Given the description of an element on the screen output the (x, y) to click on. 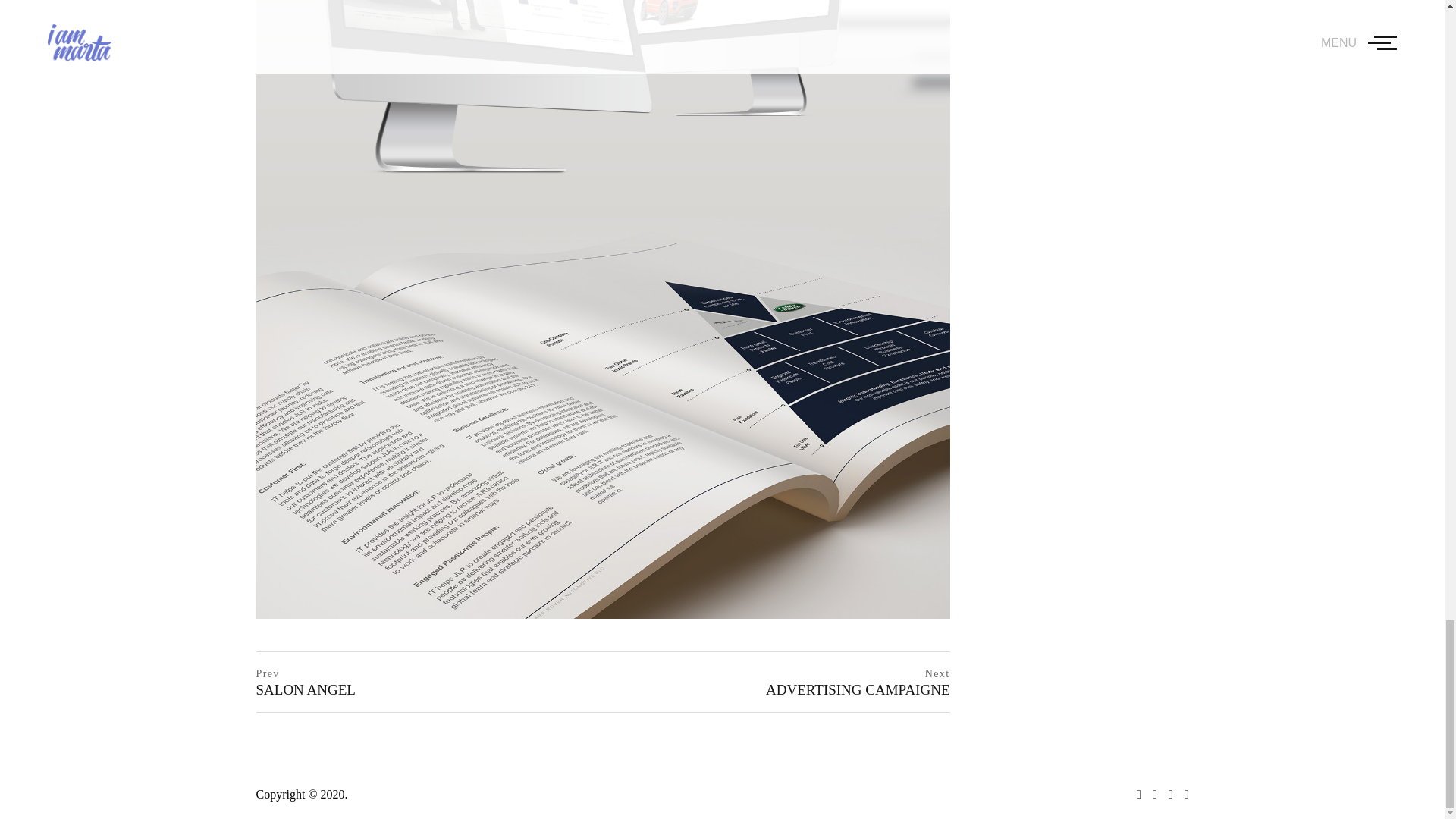
Dribbble (1133, 794)
Instagram (1165, 794)
Behance (1181, 794)
LinkedIn (1149, 794)
